Given the description of an element on the screen output the (x, y) to click on. 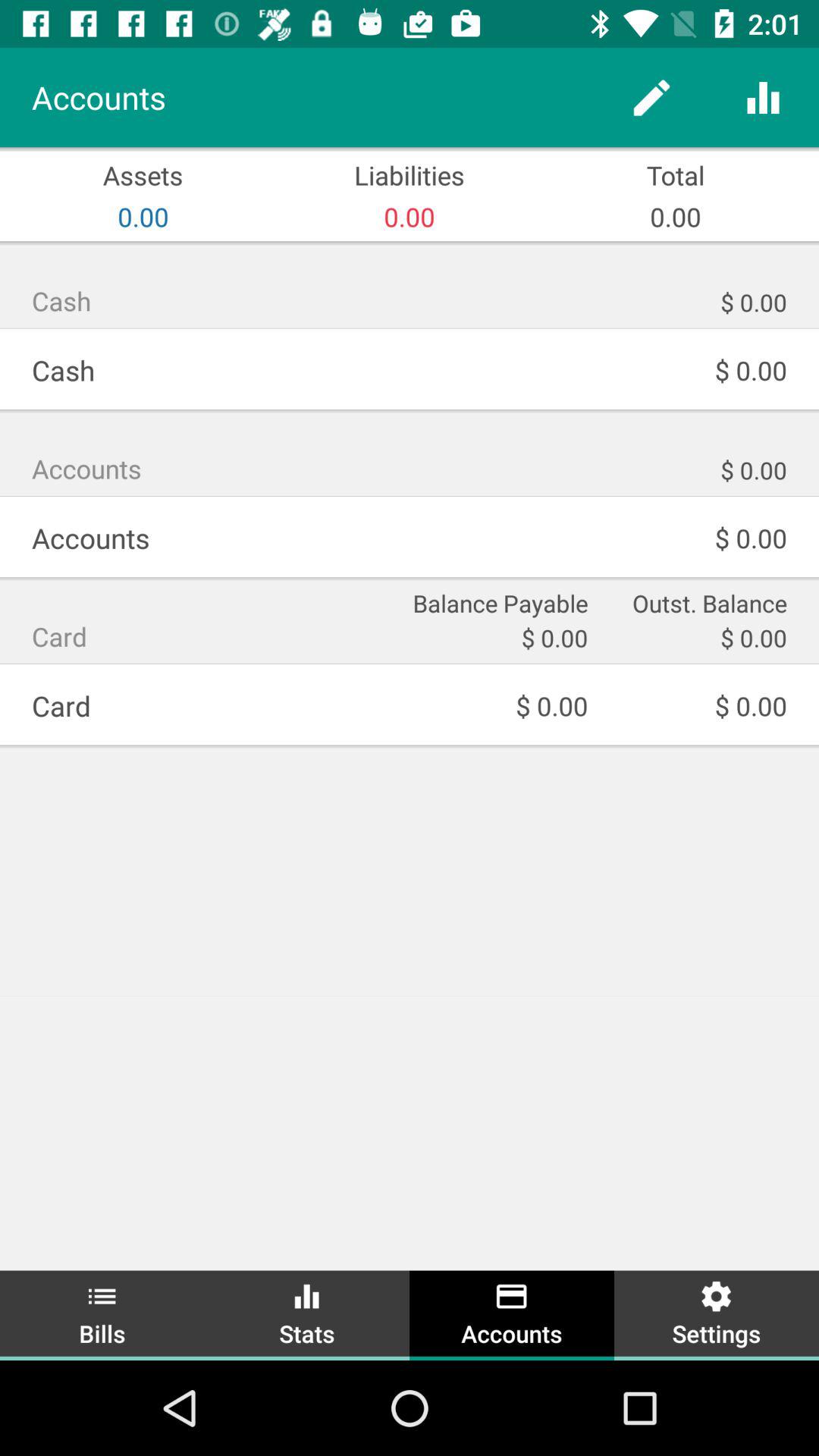
launch outst. balance (697, 601)
